Given the description of an element on the screen output the (x, y) to click on. 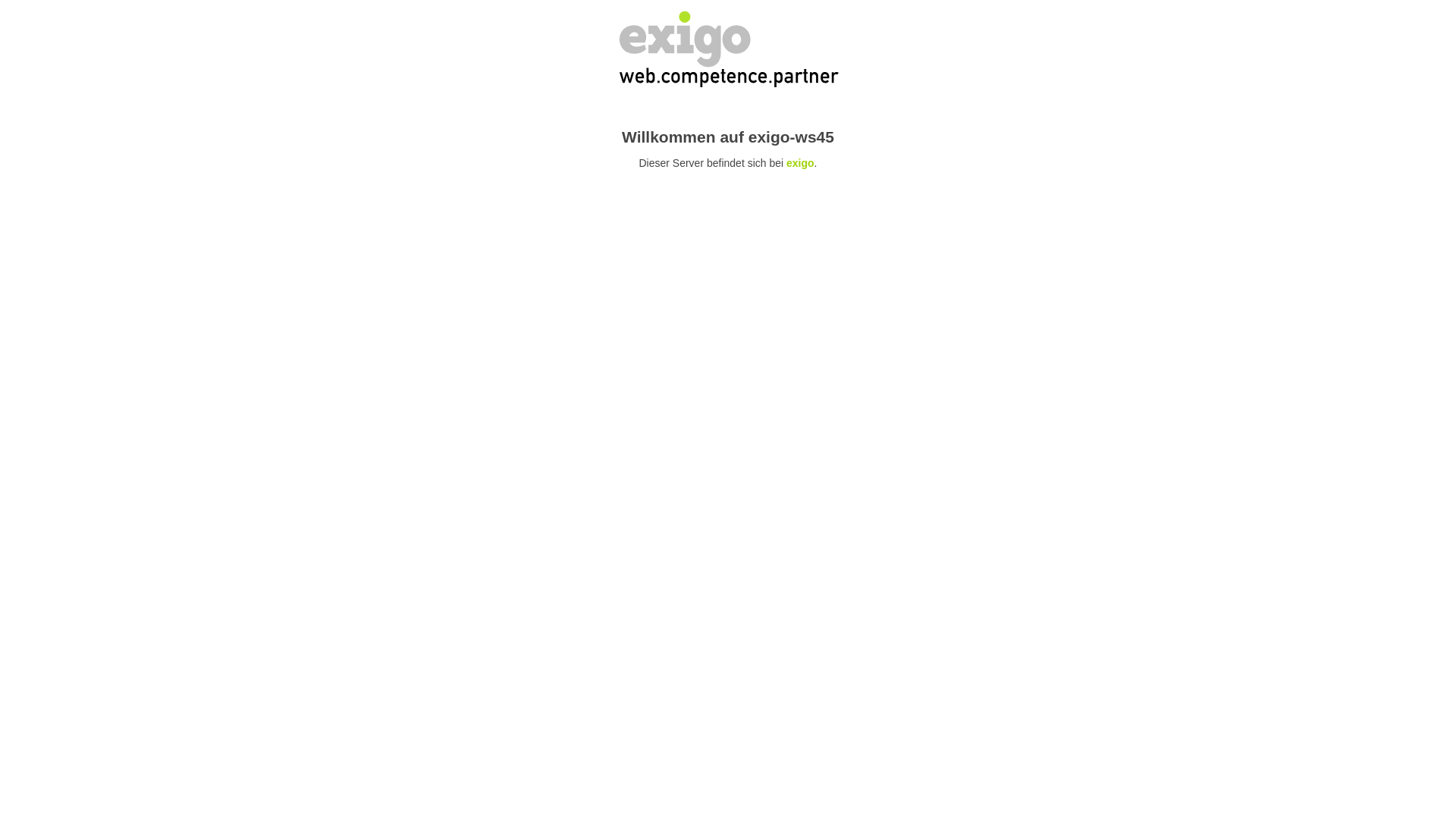
exigo Element type: text (800, 162)
